Given the description of an element on the screen output the (x, y) to click on. 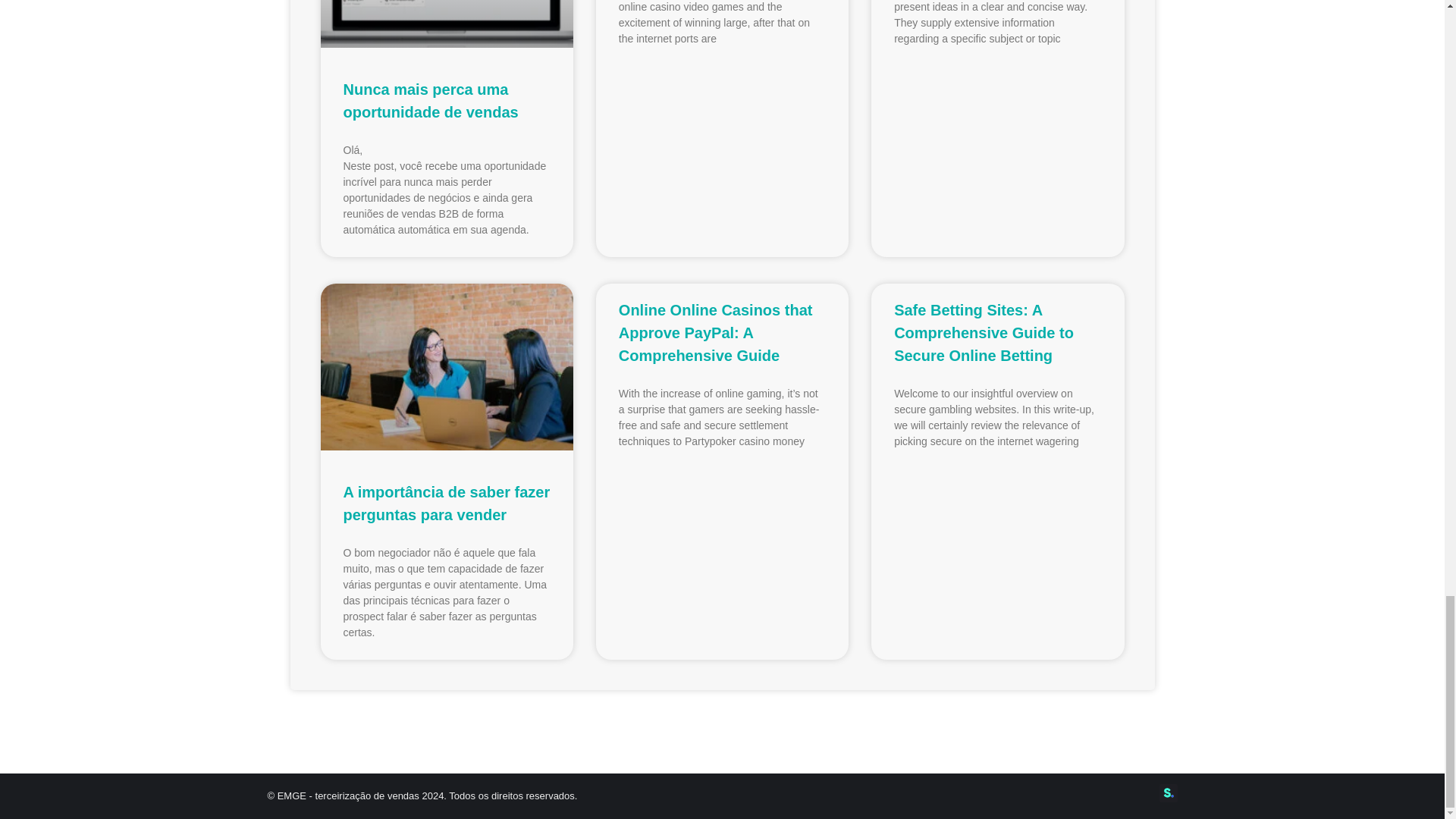
Nunca mais perca uma oportunidade de vendas (430, 100)
